Given the description of an element on the screen output the (x, y) to click on. 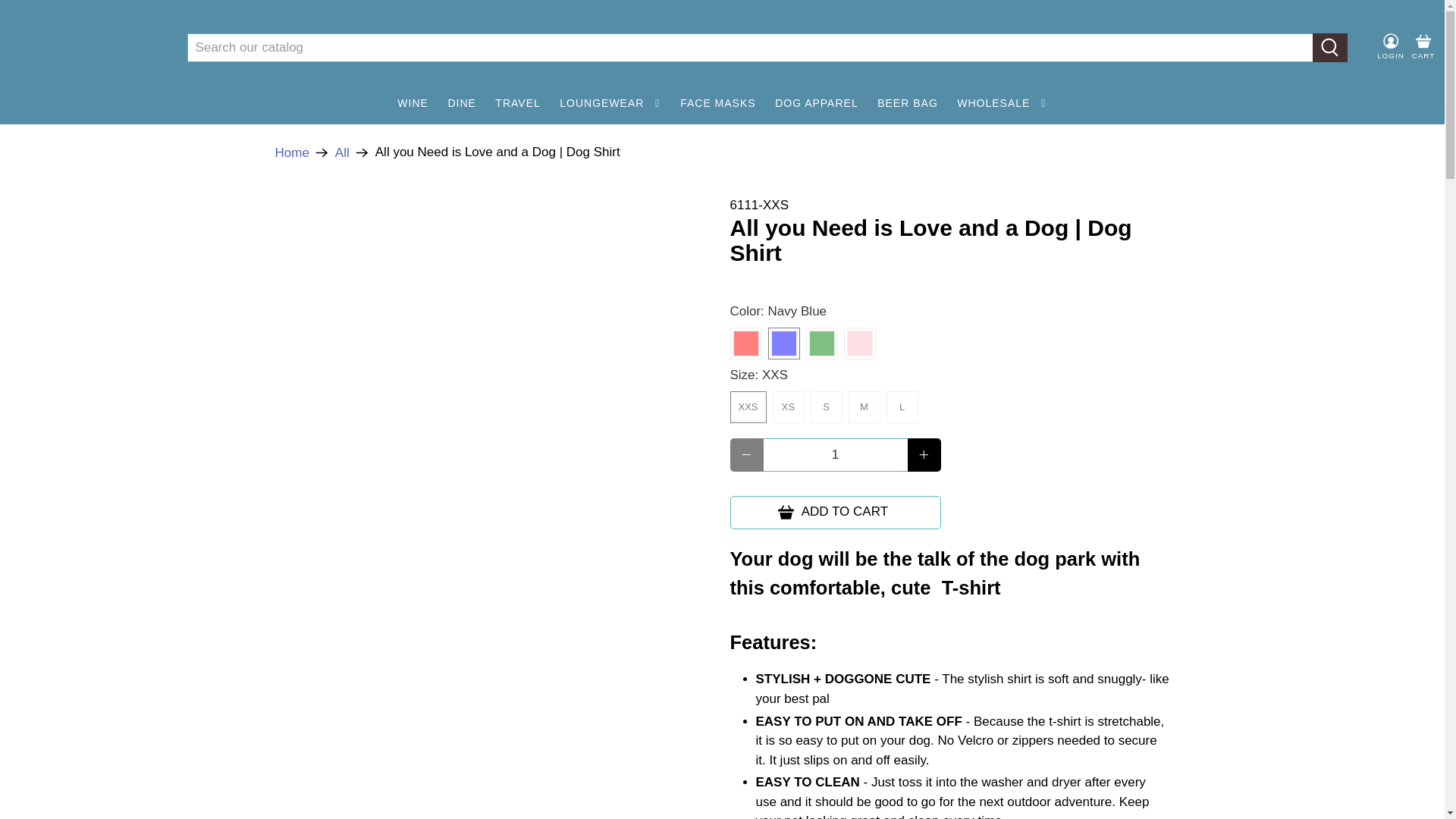
WHOLESALE (1002, 103)
LOUNGEWEAR (610, 103)
FACE MASKS (717, 103)
Primeware Inc. (291, 151)
1 (834, 454)
BEER BAG (907, 103)
DOG APPAREL (816, 103)
Primeware Inc. (85, 47)
WINE (413, 103)
TRAVEL (518, 103)
DINE (462, 103)
